Given the description of an element on the screen output the (x, y) to click on. 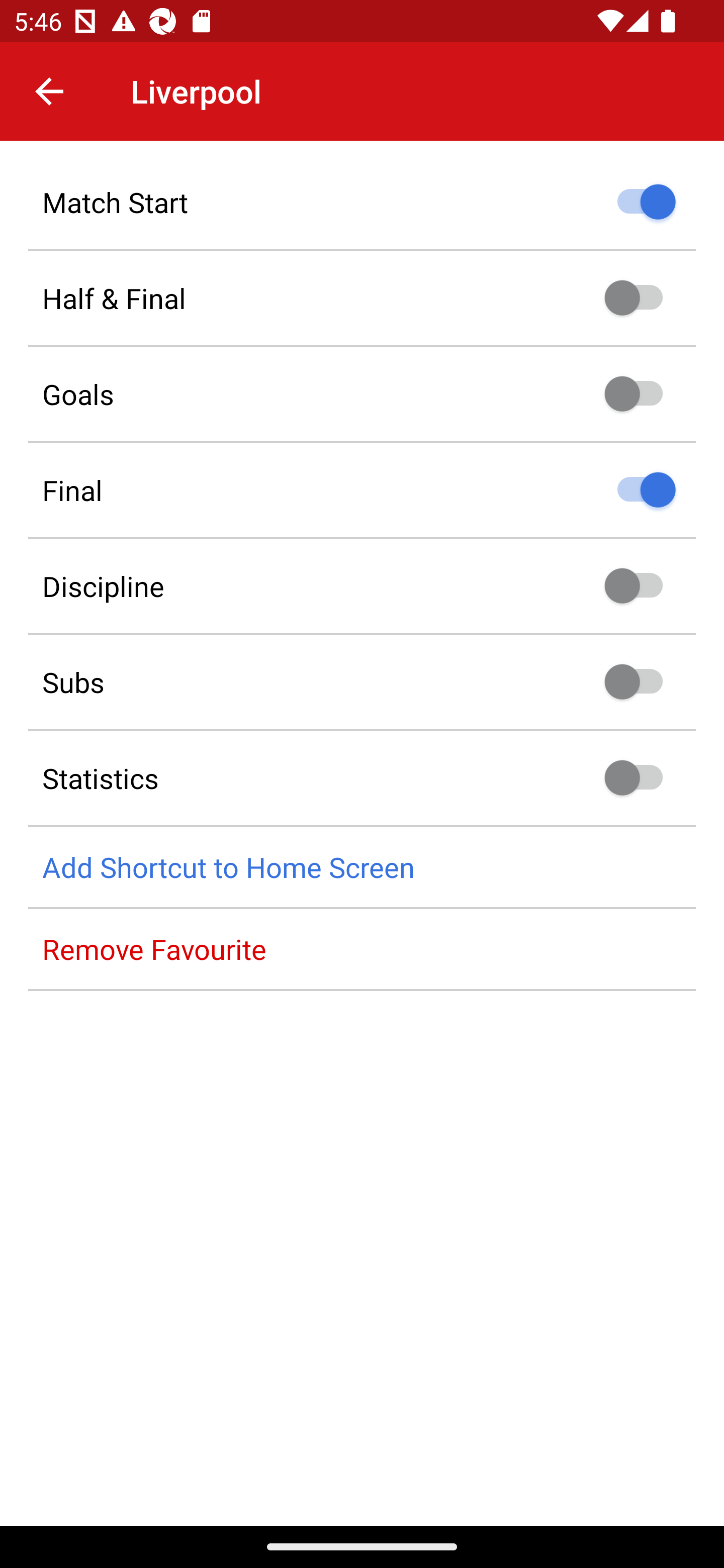
Navigate up (49, 91)
Add Shortcut to Home Screen (362, 867)
Remove Favourite (362, 948)
